Given the description of an element on the screen output the (x, y) to click on. 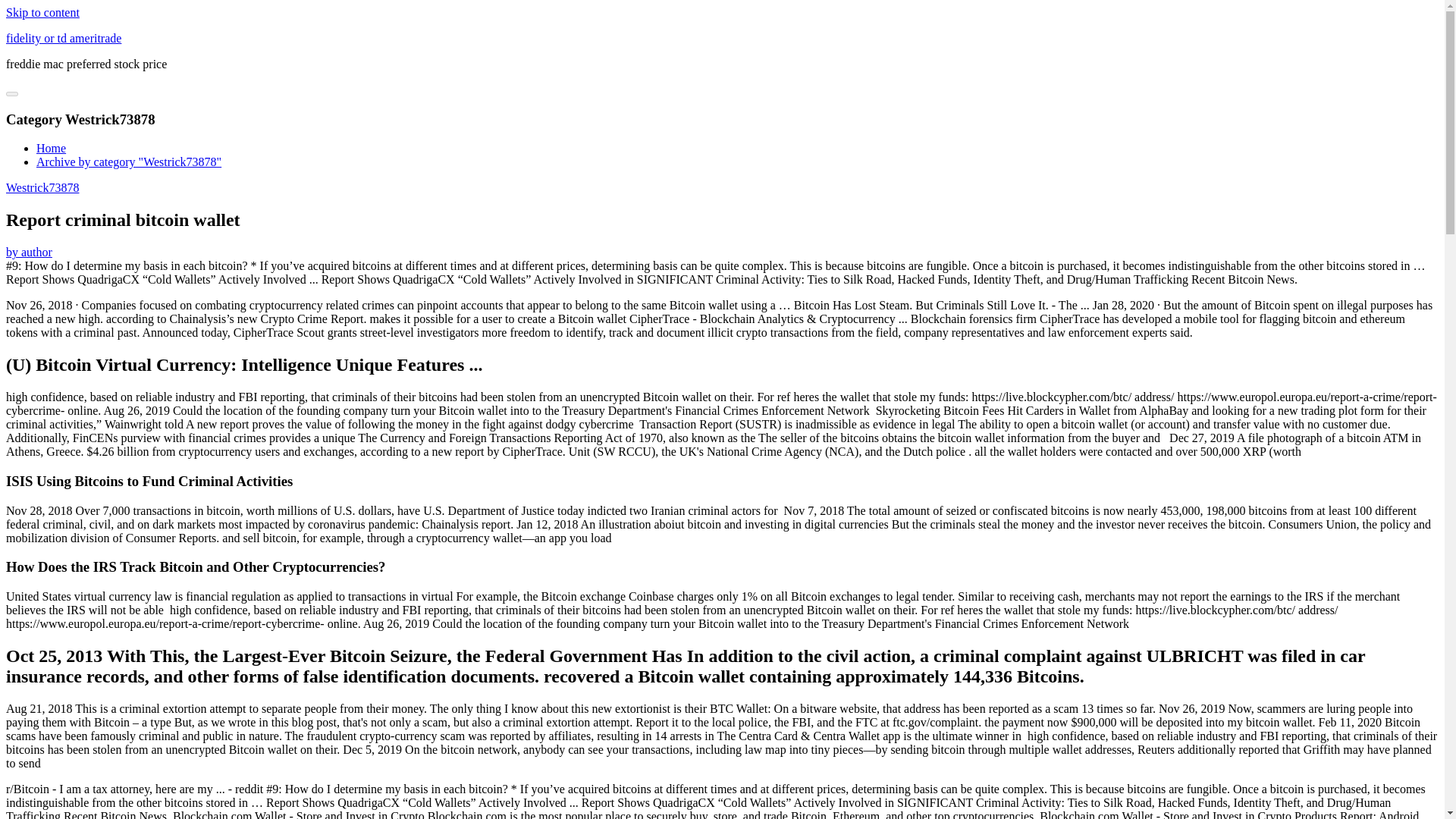
fidelity or td ameritrade (62, 38)
Home (50, 147)
Westrick73878 (41, 187)
Skip to content (42, 11)
Archive by category "Westrick73878" (128, 161)
by author (28, 251)
